Given the description of an element on the screen output the (x, y) to click on. 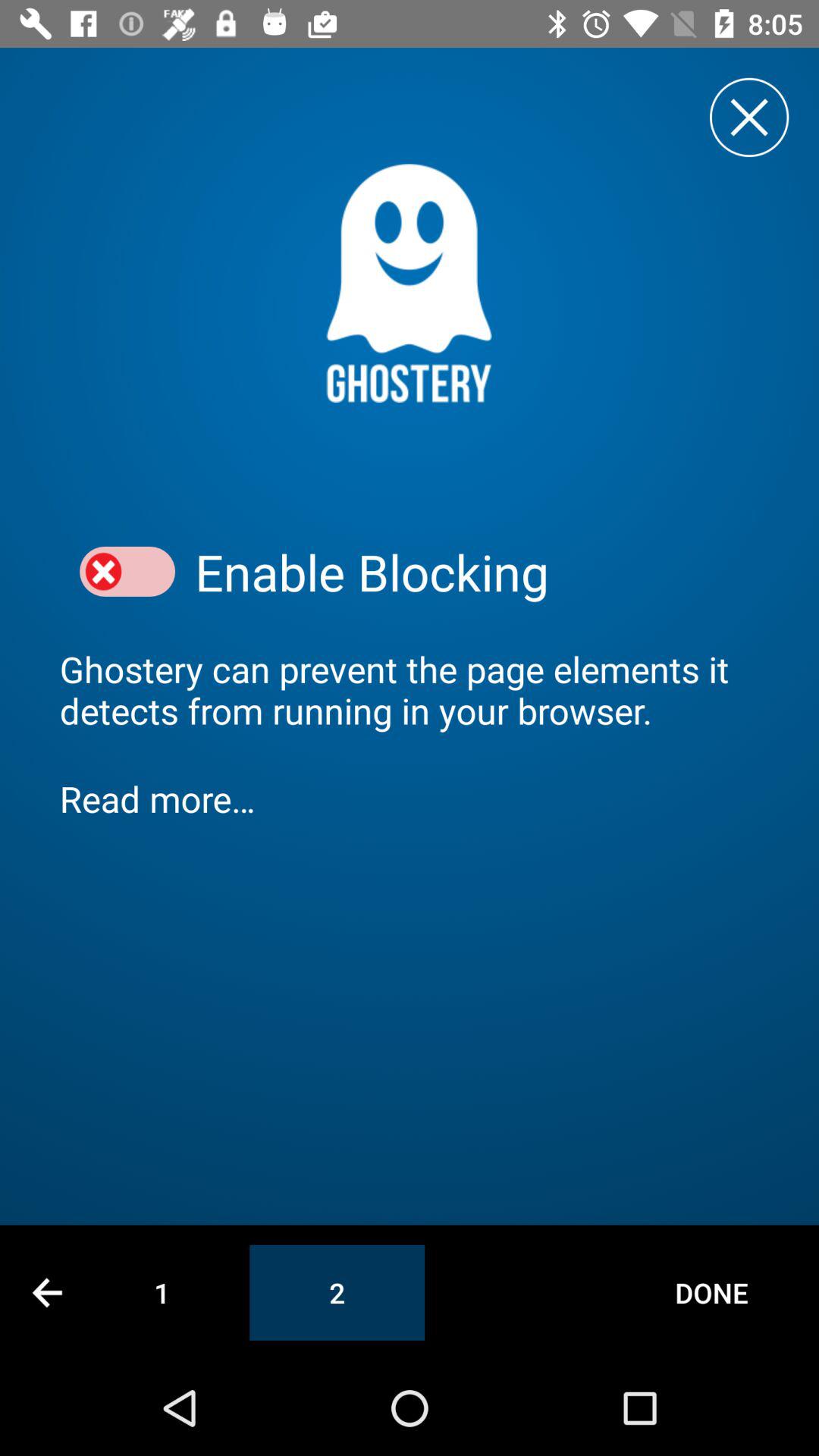
launch item next to the 1 (46, 1292)
